Given the description of an element on the screen output the (x, y) to click on. 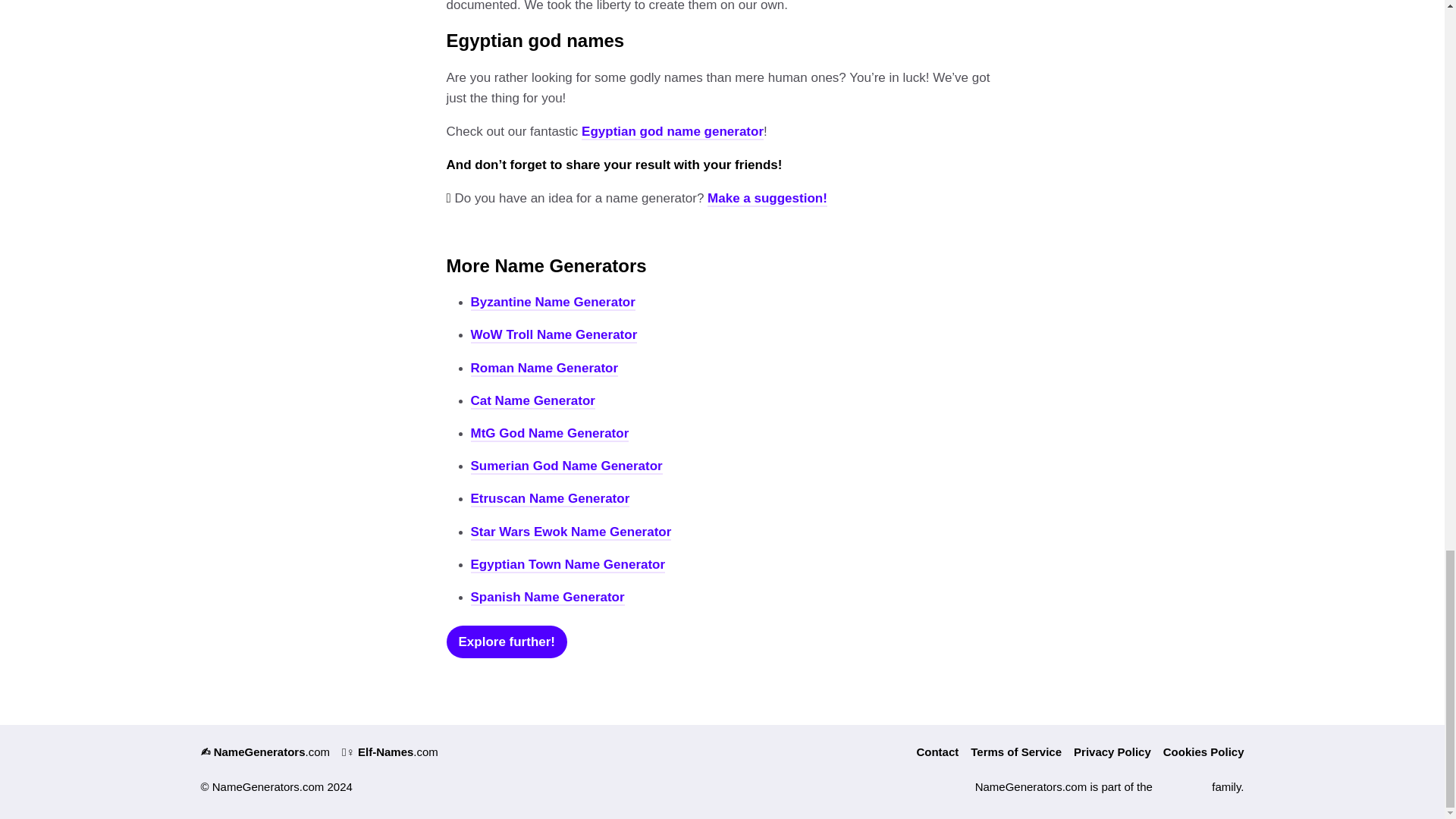
Spanish Name Generator (547, 597)
Etruscan Name Generator (549, 498)
WoW Troll Name Generator (553, 335)
Make a suggestion! (767, 198)
Egyptian Town Name Generator (567, 565)
Byzantine Name Generator (552, 302)
Explore further! (506, 641)
Cat Name Generator (532, 401)
Egyptian god name generator (671, 132)
Sumerian God Name Generator (566, 466)
MtG God Name Generator (549, 433)
Roman Name Generator (543, 368)
Star Wars Ewok Name Generator (570, 532)
